Given the description of an element on the screen output the (x, y) to click on. 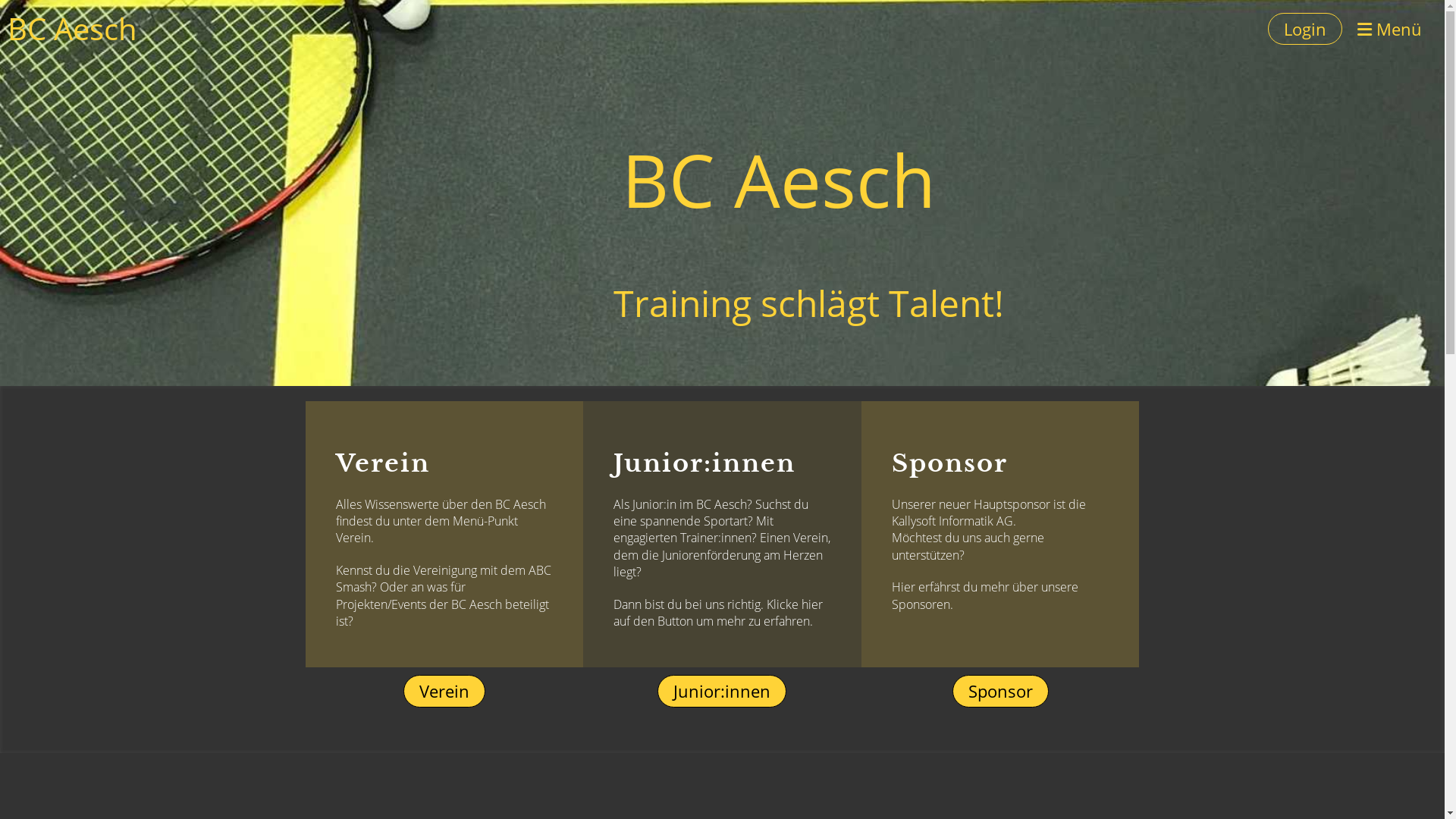
Sponsor Element type: text (1000, 690)
Junior:innen Element type: text (721, 690)
Login Element type: text (1304, 28)
BC Aesch Element type: text (72, 28)
Verein Element type: text (444, 690)
